Given the description of an element on the screen output the (x, y) to click on. 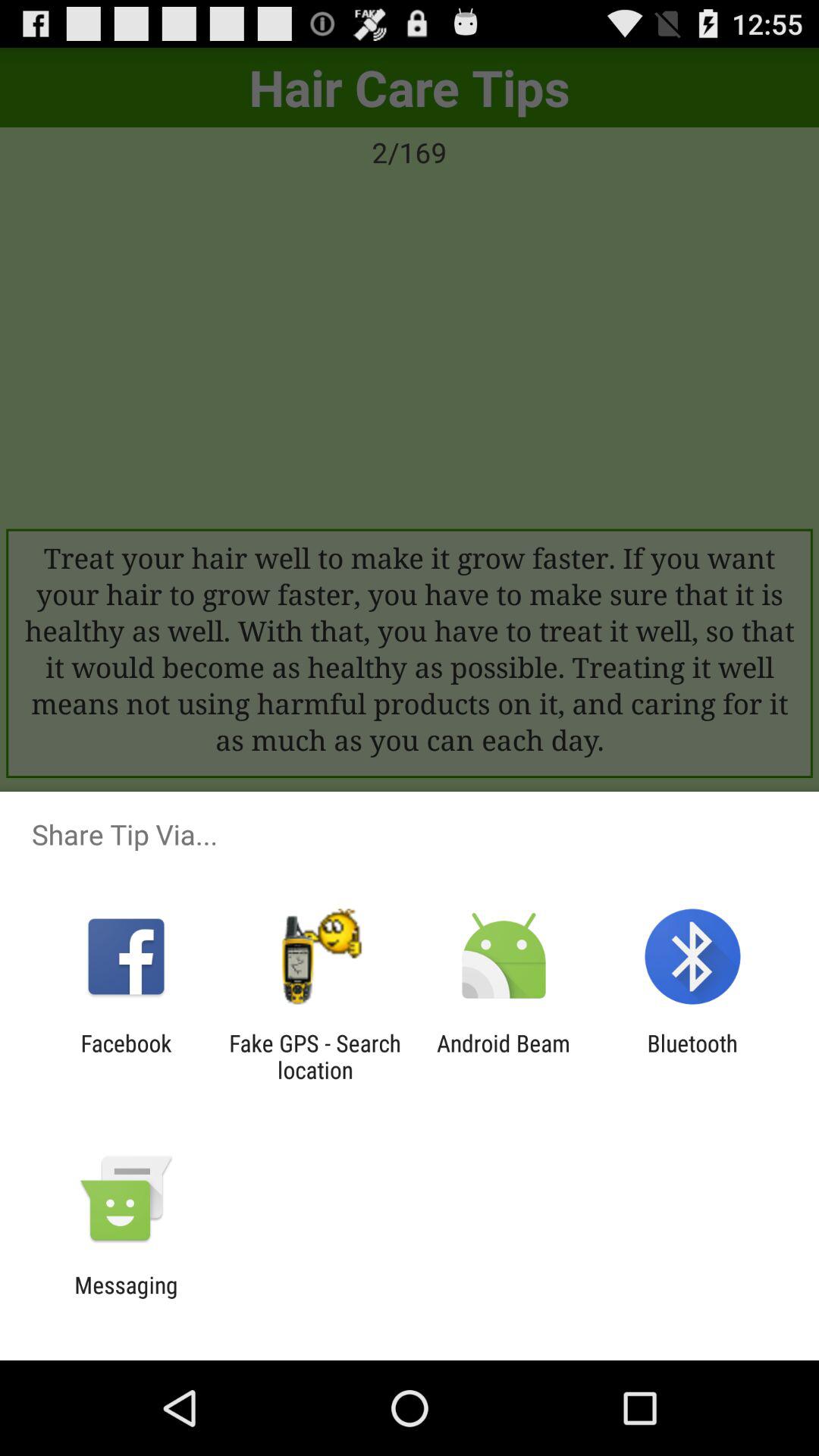
tap the app to the left of the android beam item (314, 1056)
